Given the description of an element on the screen output the (x, y) to click on. 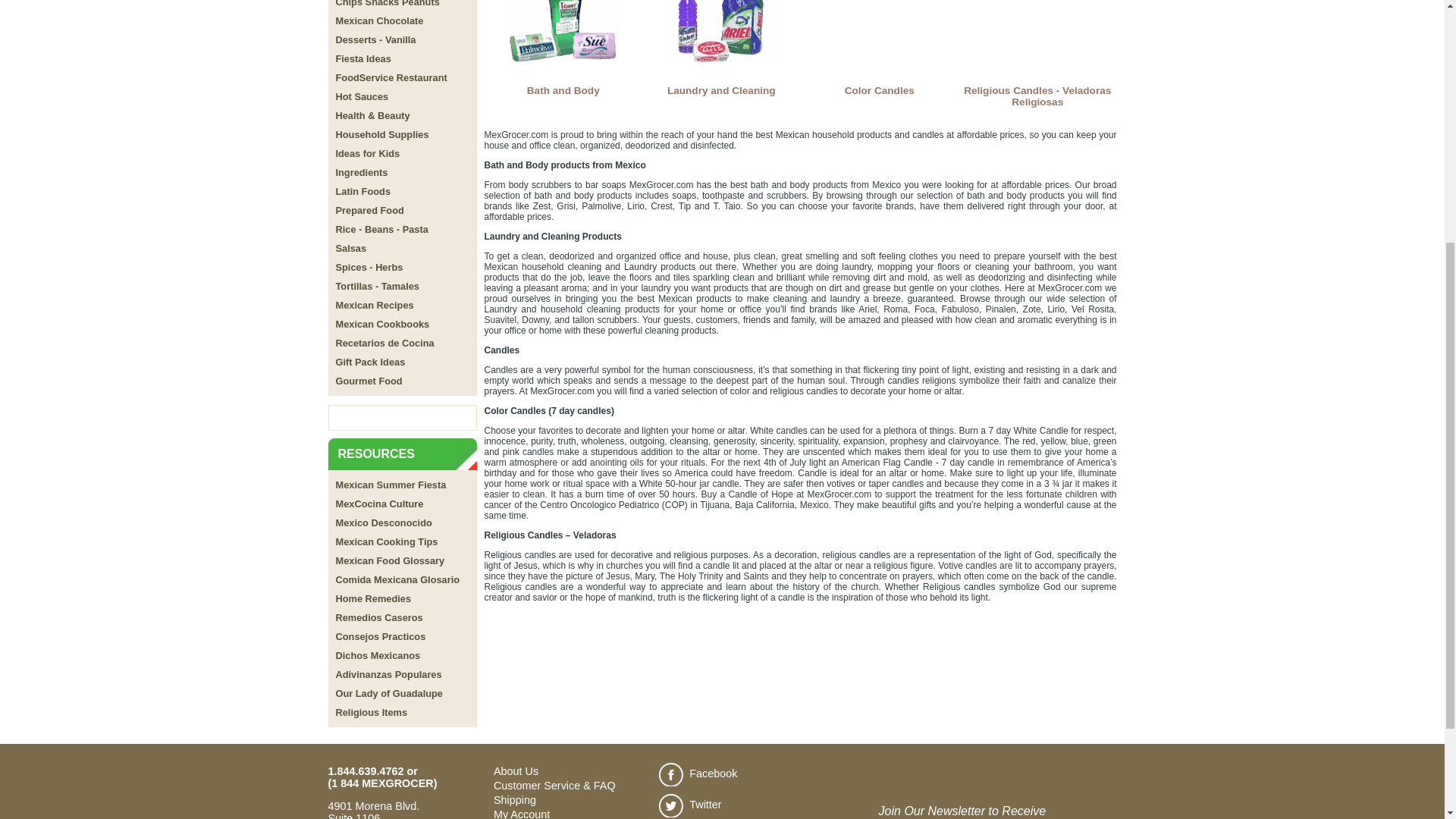
Laundry and Cleaning (721, 48)
Color Candles (880, 48)
Religious Candles - Veladoras Religiosas (1037, 53)
Bath and Body (562, 48)
